Given the description of an element on the screen output the (x, y) to click on. 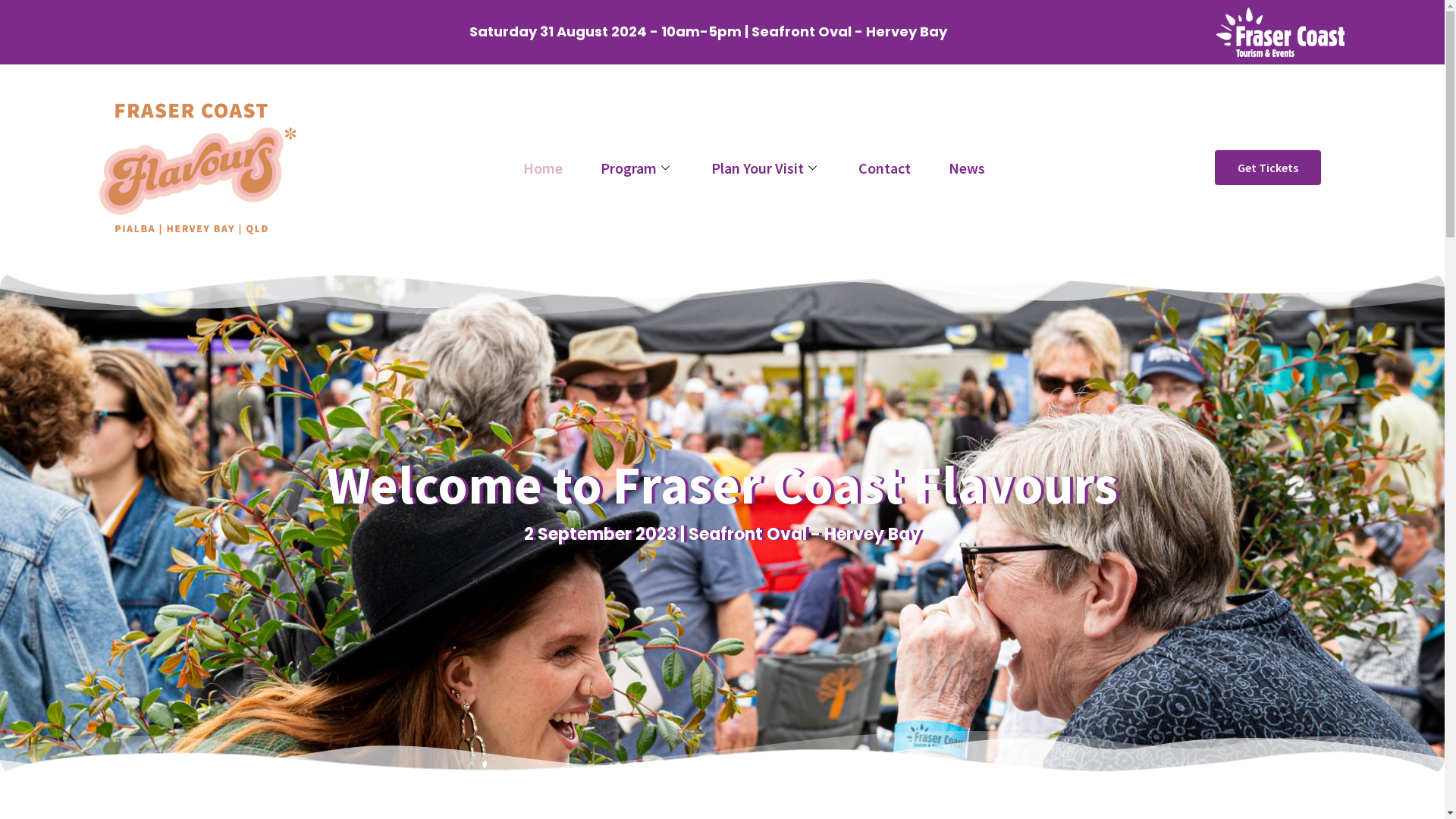
Plan Your Visit Element type: text (765, 167)
Get Tickets Element type: text (1267, 167)
Skip to content Element type: text (11, 31)
News Element type: text (966, 167)
Program Element type: text (636, 167)
Home Element type: text (542, 167)
Contact Element type: text (884, 167)
